Given the description of an element on the screen output the (x, y) to click on. 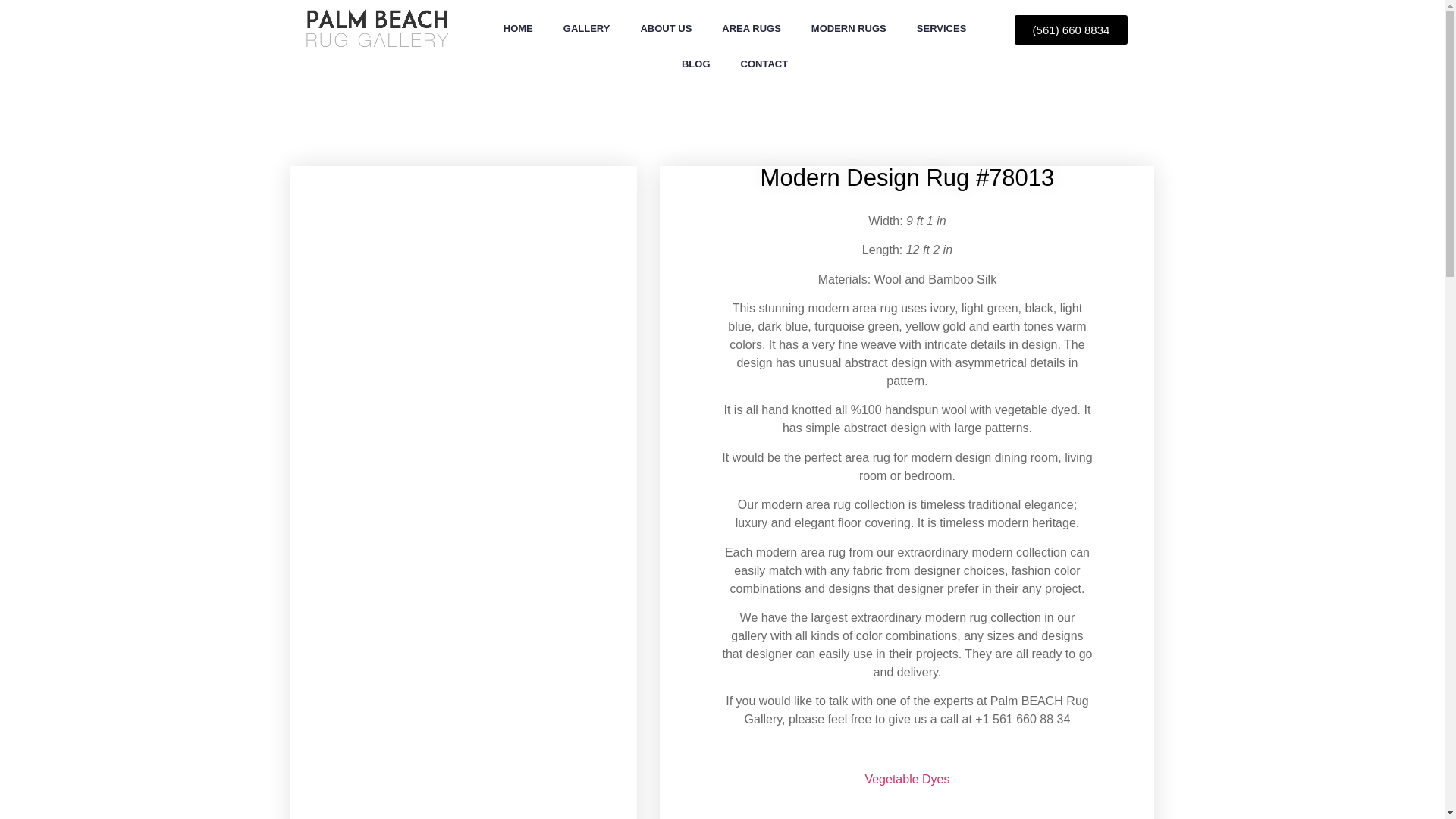
GALLERY (587, 28)
BLOG (695, 64)
AREA RUGS (751, 28)
Vegetable Dyes (906, 779)
MODERN RUGS (848, 28)
ABOUT US (665, 28)
SERVICES (941, 28)
HOME (517, 28)
CONTACT (764, 64)
